Given the description of an element on the screen output the (x, y) to click on. 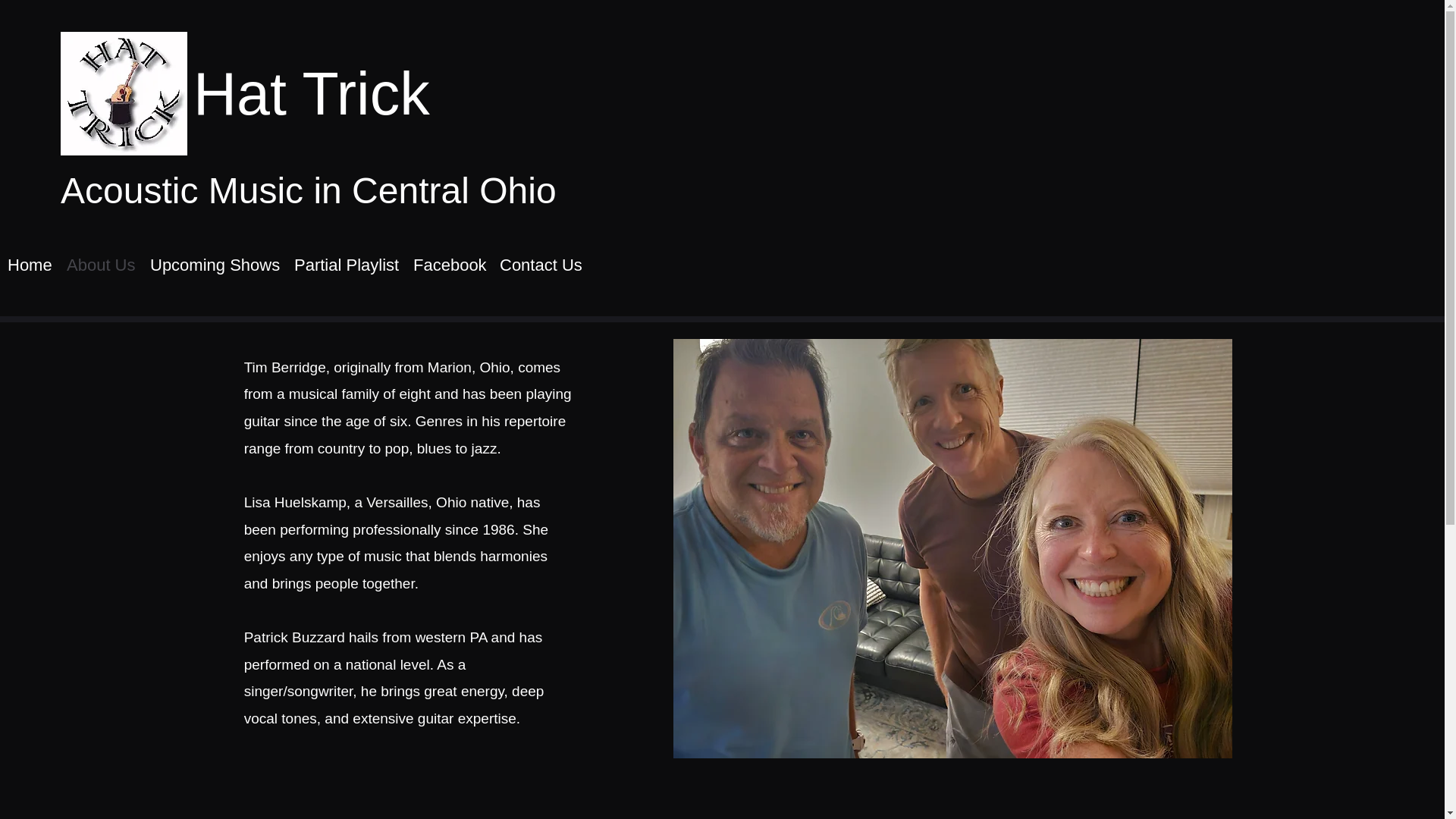
Partial Playlist (346, 264)
About Us (100, 264)
Upcoming Shows (214, 264)
Home (29, 264)
Contact Us (540, 264)
Hat Trick (311, 93)
Facebook (449, 264)
